Given the description of an element on the screen output the (x, y) to click on. 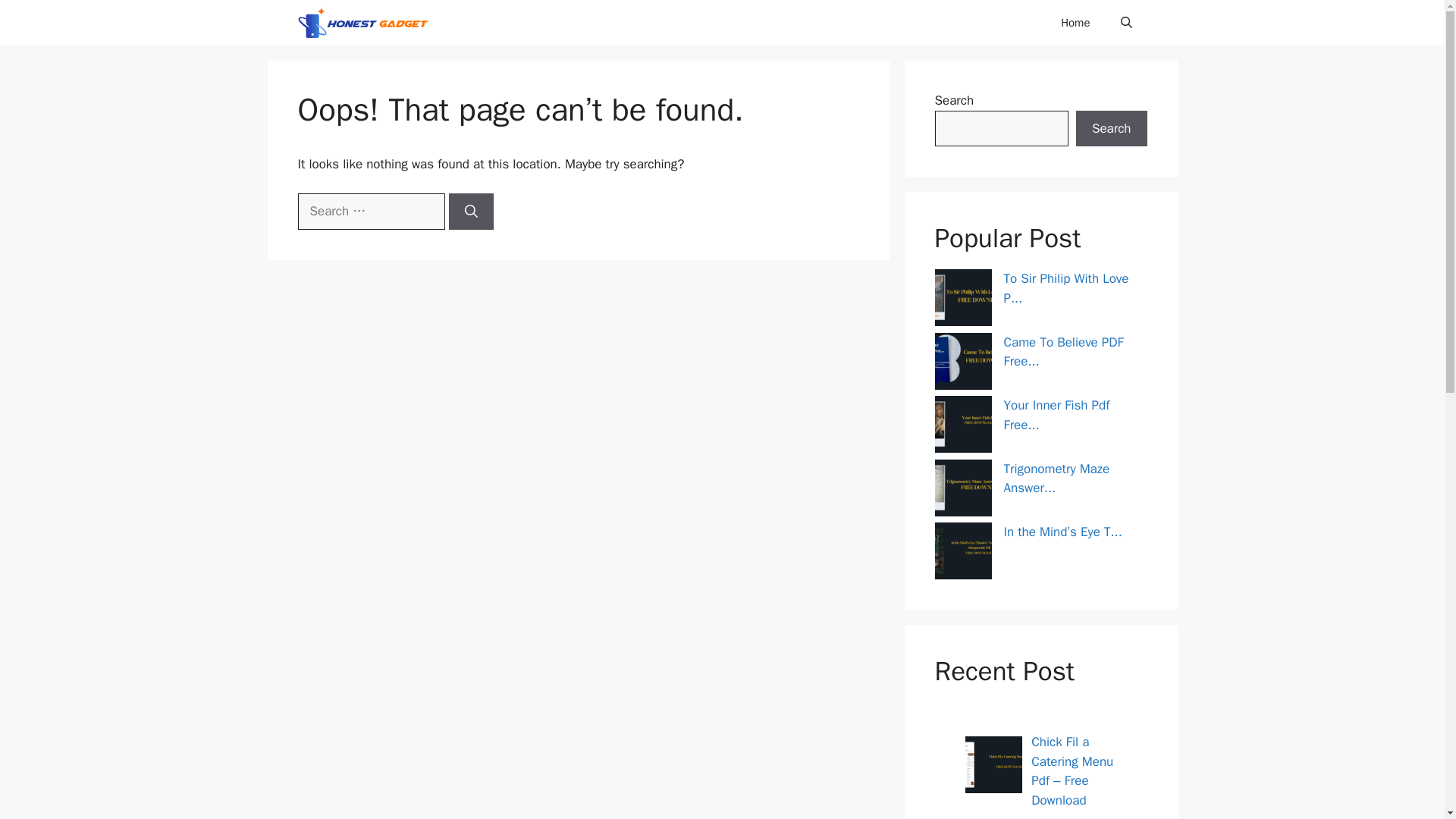
Search (1111, 128)
Your Inner Fish Pdf Free Download (1056, 415)
To Sir Philip With Love P... (1066, 288)
Trigonometry Maze Answer... (1056, 478)
To Sir Philip With Love PDF Free Download (1066, 288)
Home (1075, 22)
Trigonometry Maze Answer Key Pdf Free Download (1056, 478)
Honest Gadget (373, 22)
Came To Believe PDF Free... (1064, 351)
Came To Believe PDF Free Download (1064, 351)
